Given the description of an element on the screen output the (x, y) to click on. 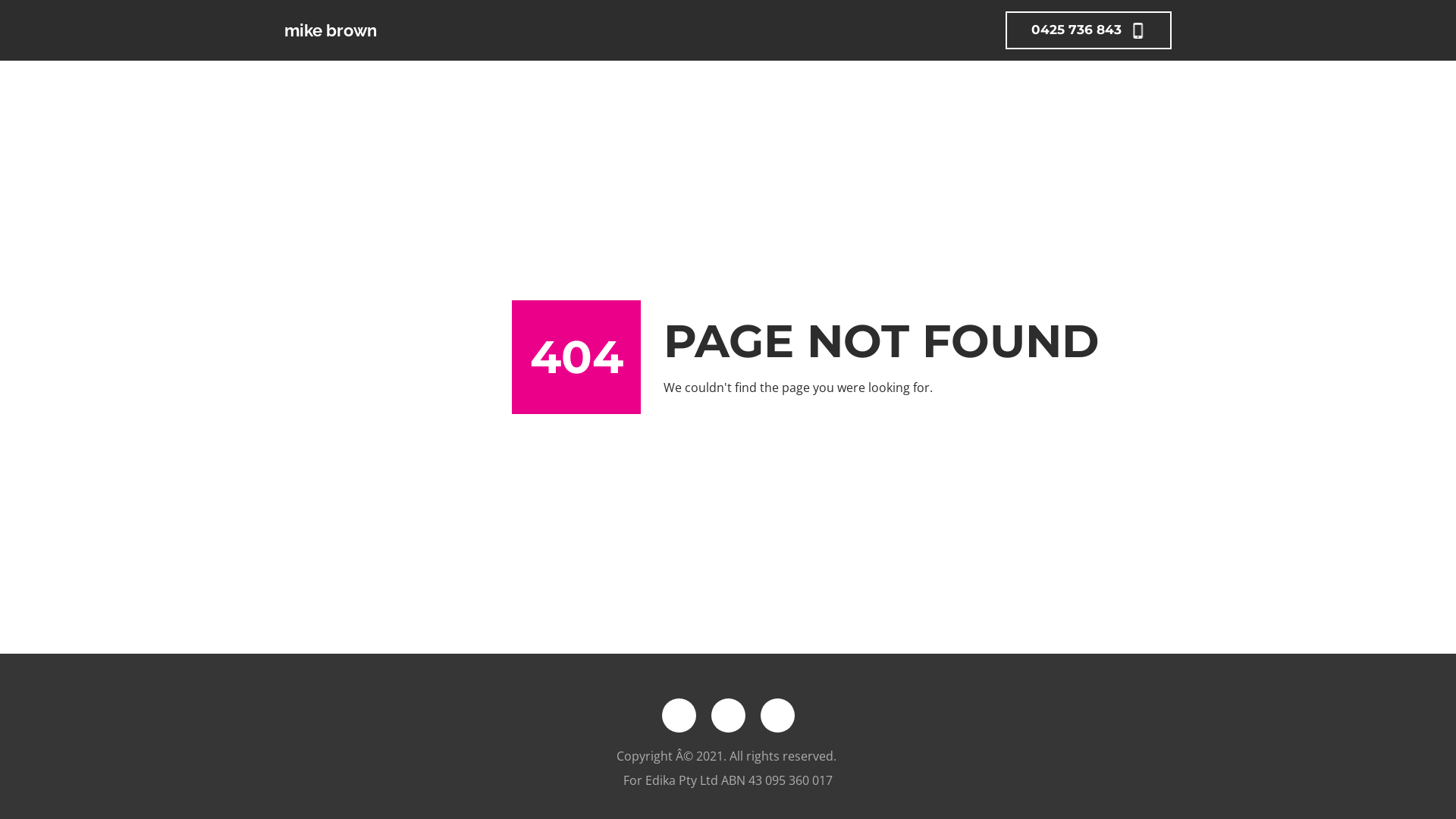
0425 736 843 Element type: text (1088, 29)
mike brown Element type: text (378, 30)
